Given the description of an element on the screen output the (x, y) to click on. 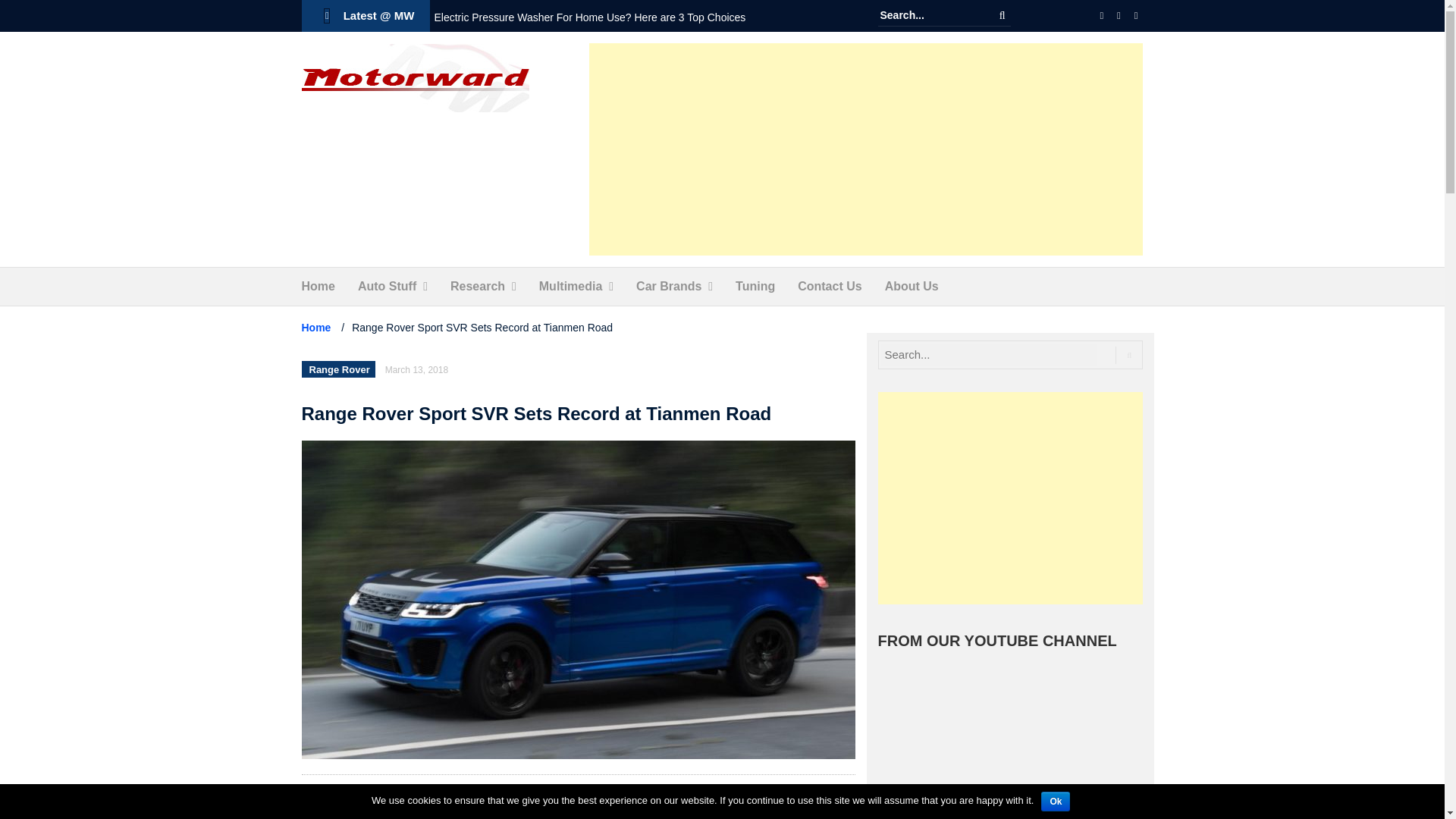
Advertisement (865, 149)
Research (477, 286)
Home (317, 286)
Auto Stuff (387, 286)
Search   (1002, 14)
